Given the description of an element on the screen output the (x, y) to click on. 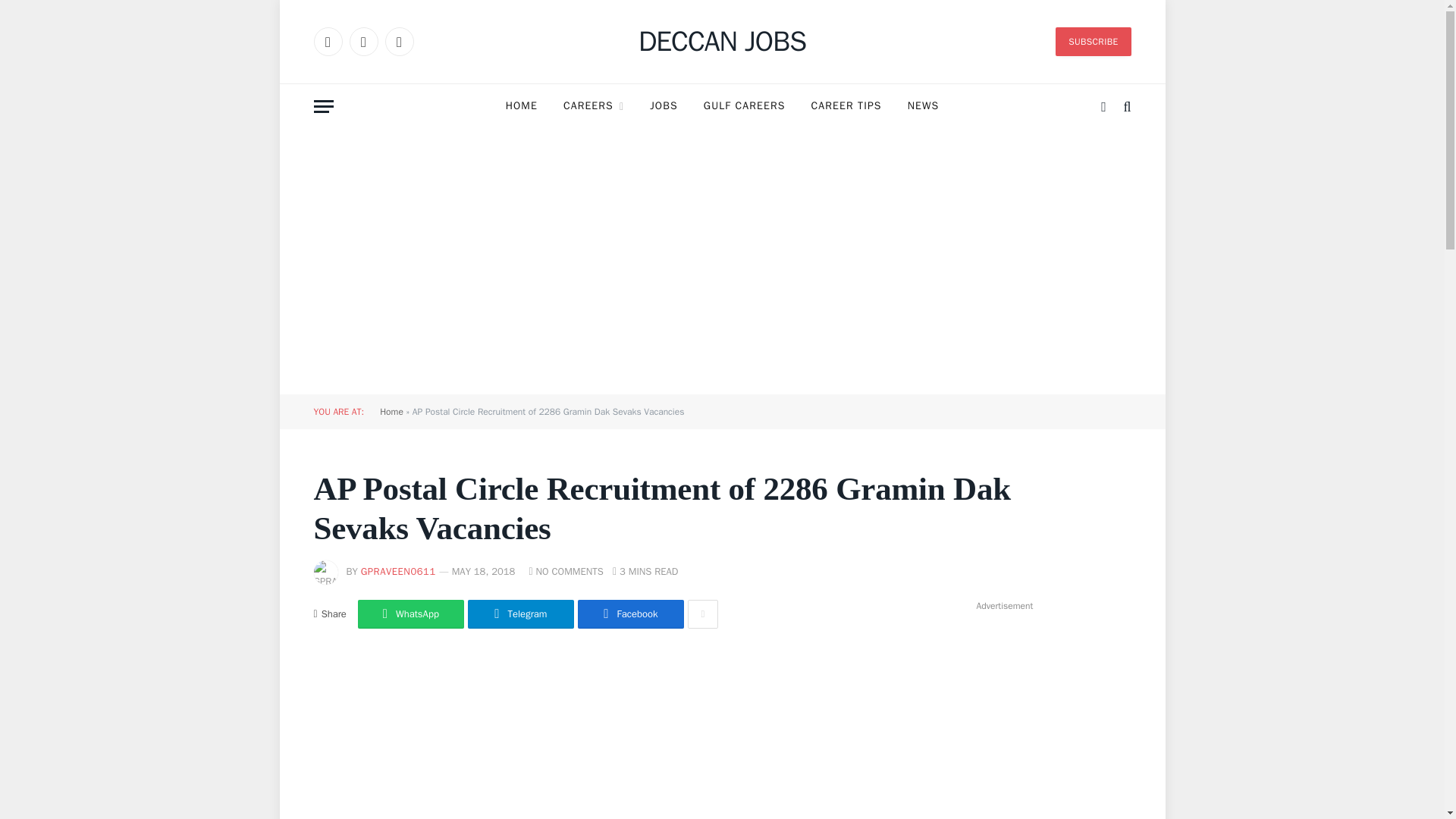
Posts by gpraveen0611 (398, 571)
SUBSCRIBE (1093, 41)
GULF CAREERS (743, 106)
Switch to Dark Design - easier on eyes. (1103, 106)
NO COMMENTS (566, 571)
Home (391, 411)
Facebook (328, 41)
HOME (521, 106)
NEWS (923, 106)
